Given the description of an element on the screen output the (x, y) to click on. 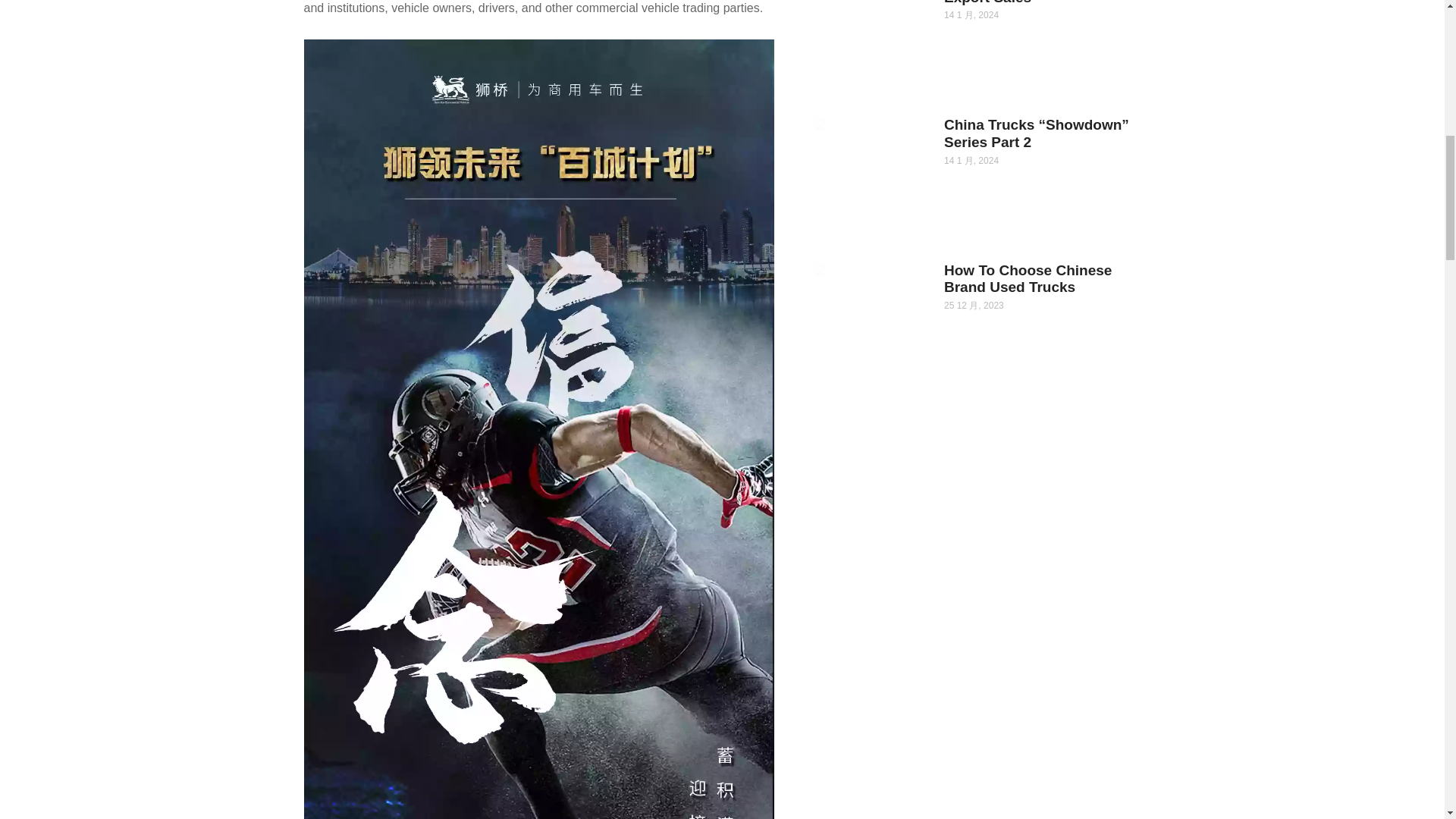
China Heavy Trucks And Export Sales (1027, 2)
How To Choose Chinese Brand Used Trucks (1027, 278)
